Given the description of an element on the screen output the (x, y) to click on. 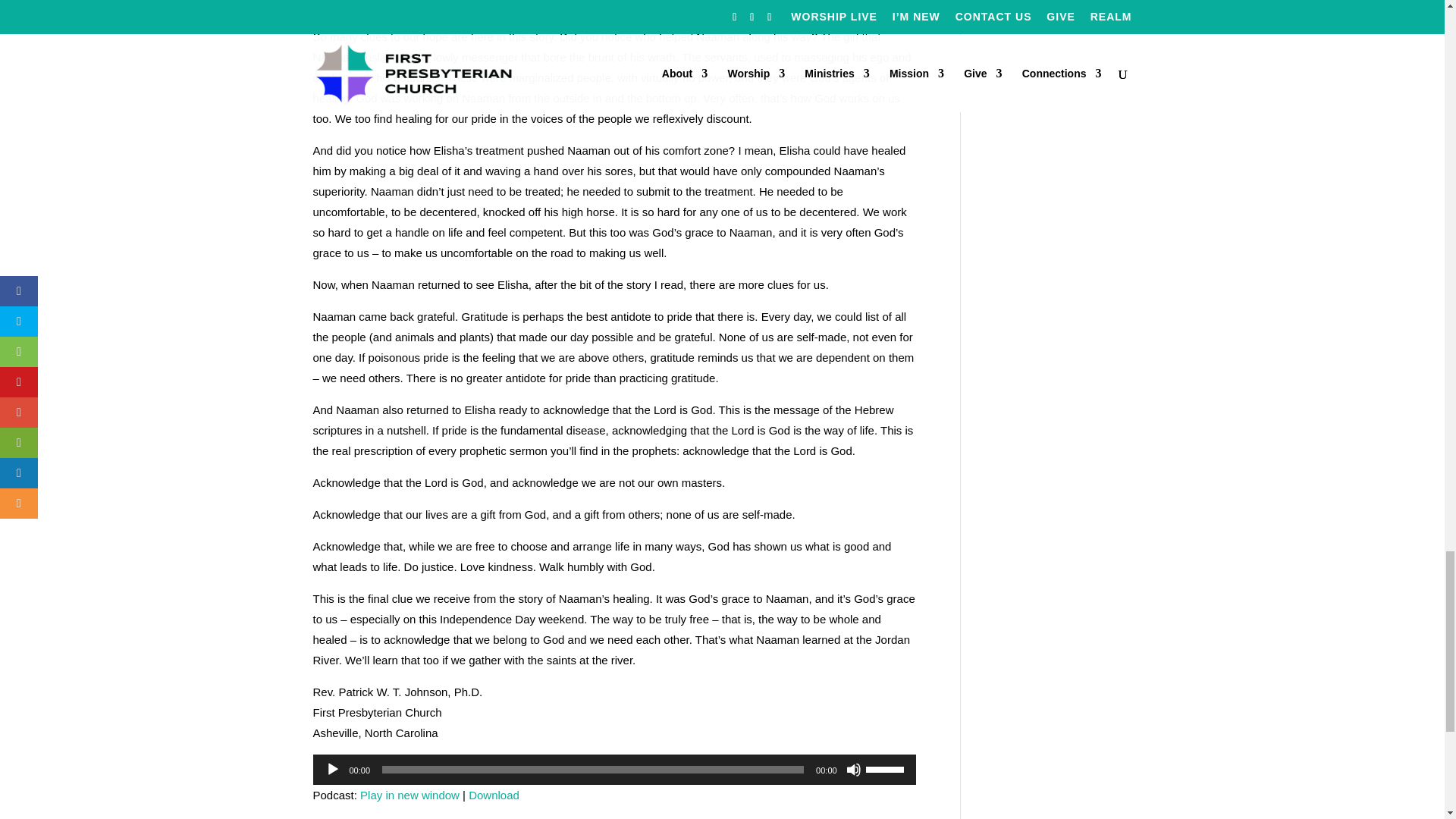
Download (493, 794)
Play in new window (409, 794)
Mute (853, 769)
Play (331, 769)
